Given the description of an element on the screen output the (x, y) to click on. 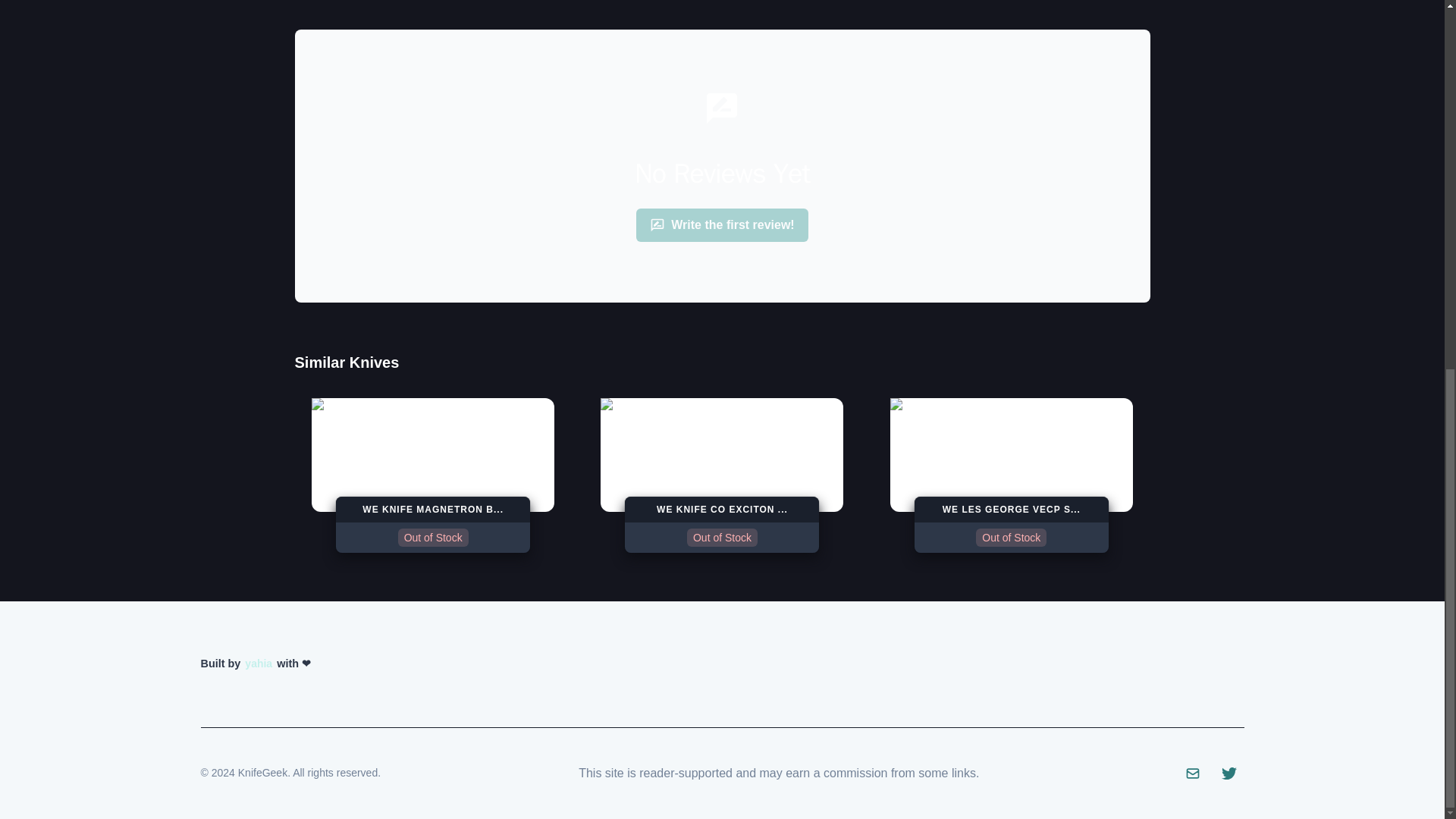
yahia (1011, 475)
Write the first review! (721, 475)
